Given the description of an element on the screen output the (x, y) to click on. 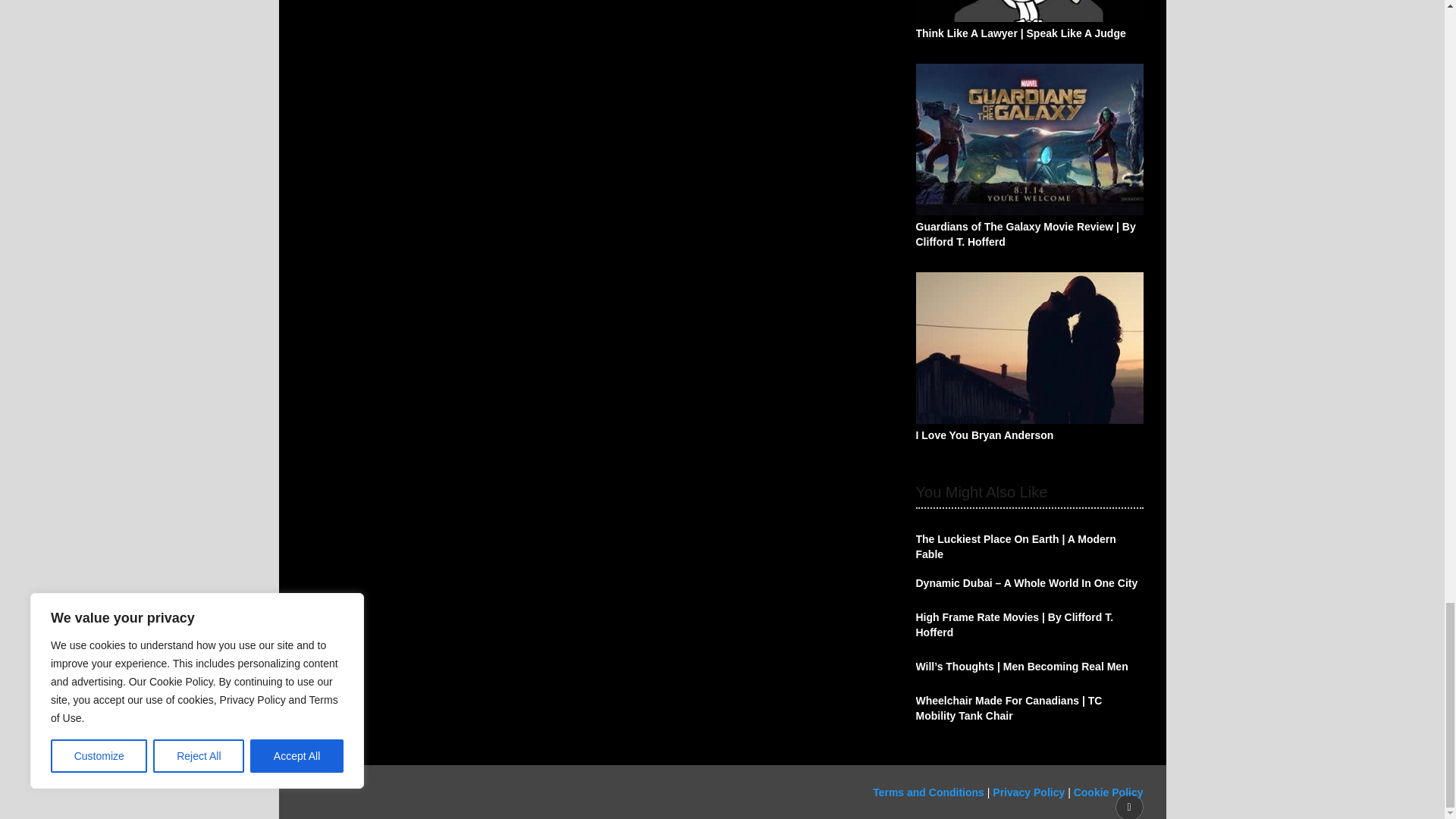
 Mind Blowing Stuff To Read (475, 792)
